Given the description of an element on the screen output the (x, y) to click on. 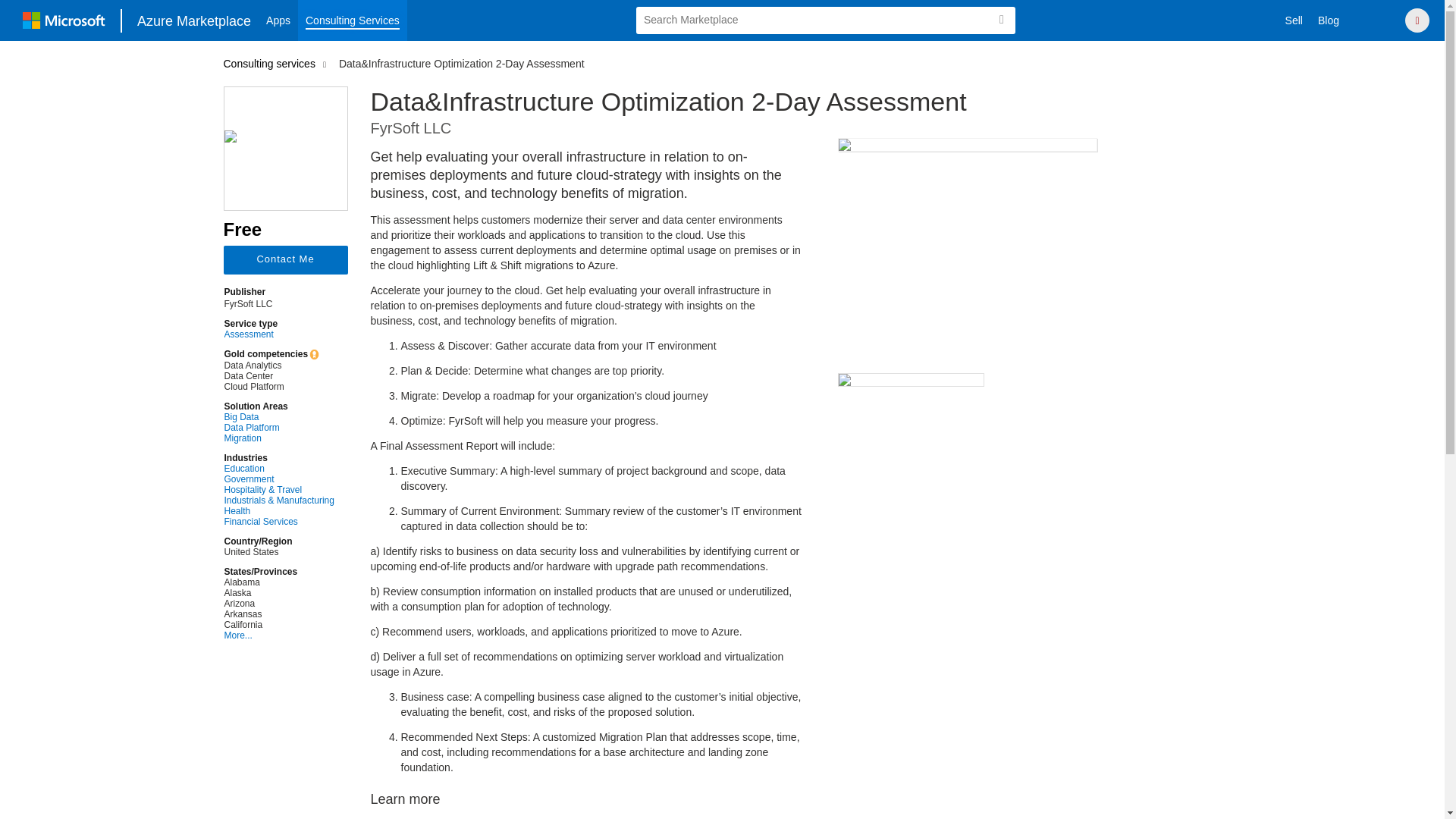
Consulting Services (352, 20)
Search (1001, 19)
Search  (1001, 19)
Sell (1294, 20)
Blog (1328, 20)
Apps (278, 20)
Azure Marketplace (194, 20)
Feedback (1377, 20)
